Given the description of an element on the screen output the (x, y) to click on. 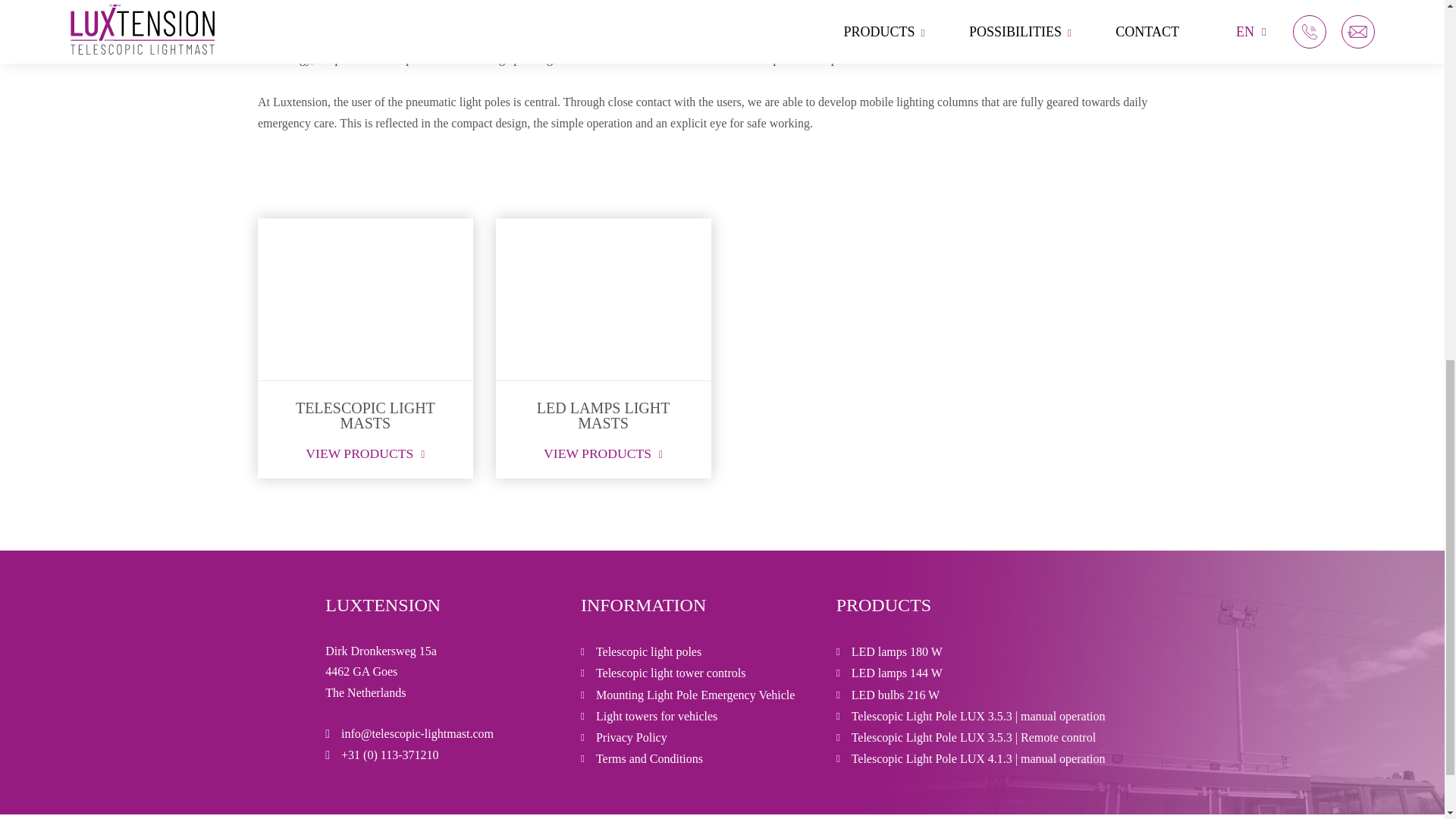
Telescopic light tower controls (662, 672)
Telescopic light poles (640, 651)
Mounting Light Pole Emergency Vehicle (687, 694)
Light towers for vehicles (648, 715)
Privacy Policy (623, 737)
Terms and Conditions (641, 758)
LED bulbs 216 W (887, 694)
LED lamps 144 W (888, 672)
LED lamps 180 W (888, 651)
